Given the description of an element on the screen output the (x, y) to click on. 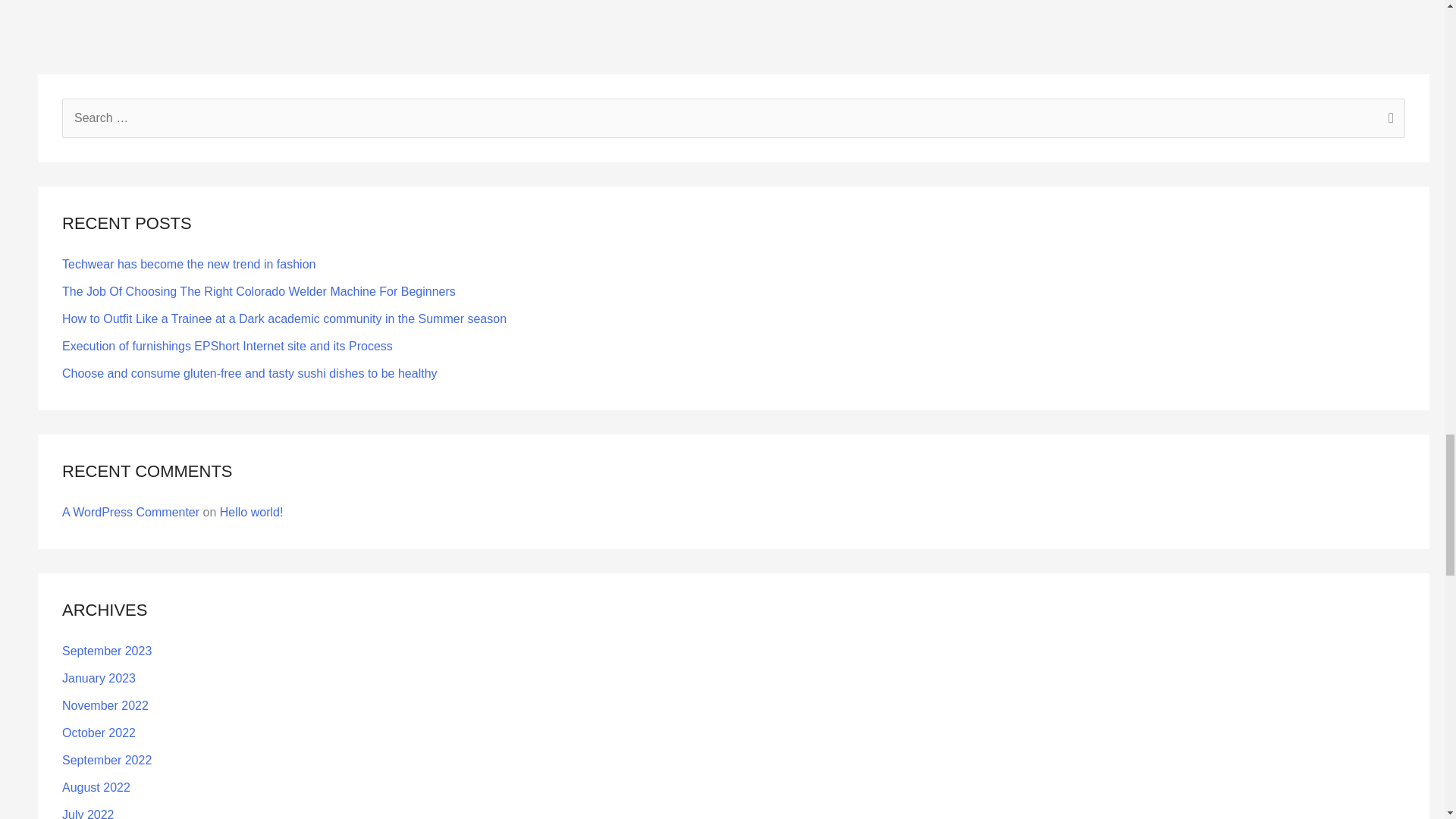
Techwear has become the new trend in fashion (188, 264)
July 2022 (88, 813)
September 2023 (106, 650)
August 2022 (96, 787)
Hello world! (251, 512)
January 2023 (98, 677)
November 2022 (105, 705)
September 2022 (106, 759)
October 2022 (98, 732)
A WordPress Commenter (130, 512)
